Given the description of an element on the screen output the (x, y) to click on. 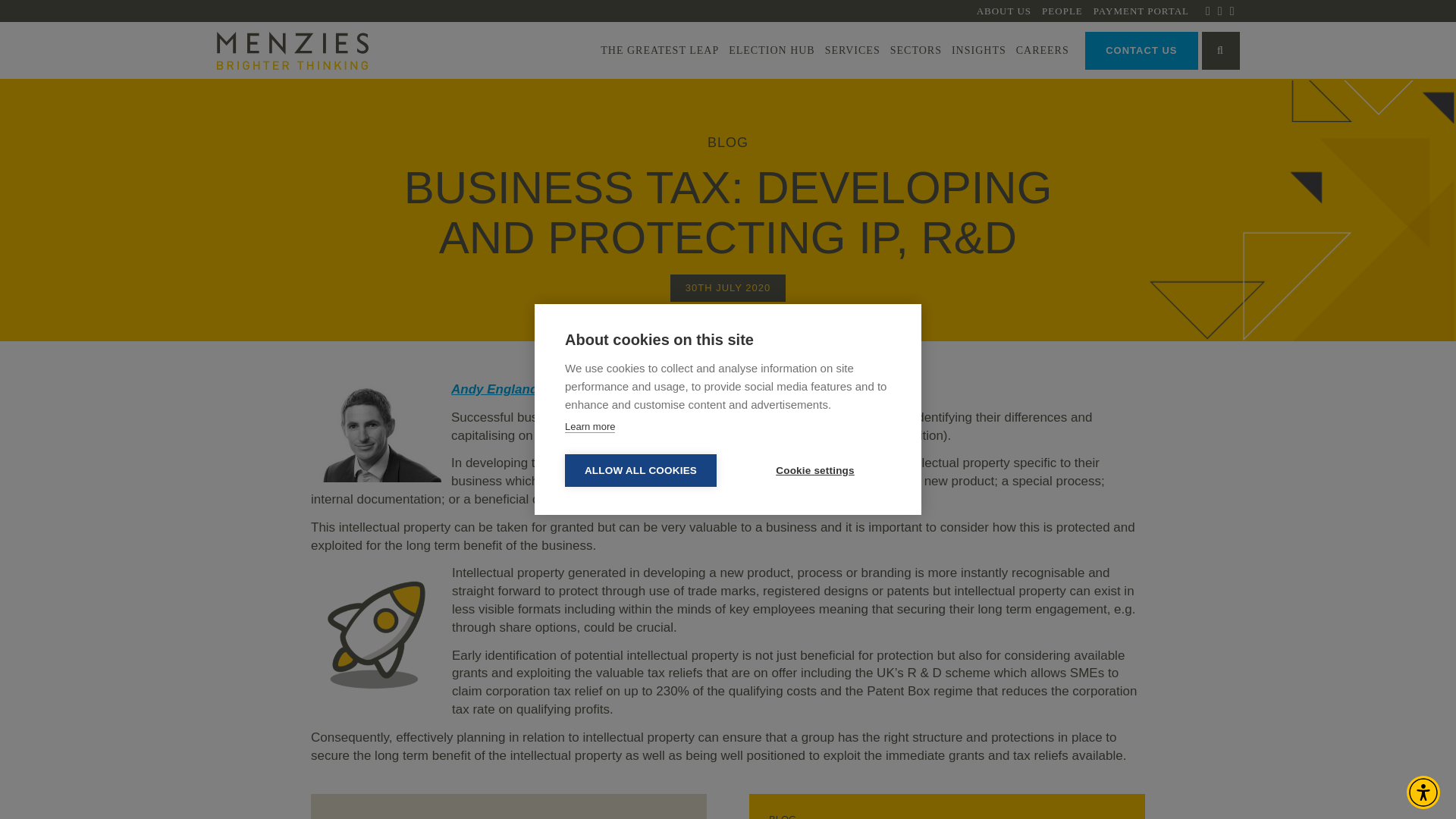
Accessibility Menu (1422, 792)
Menzies LLP (292, 50)
ELECTION HUB (772, 50)
Election Hub  (772, 50)
ABOUT US (1003, 11)
THE GREATEST LEAP (659, 50)
Services (852, 50)
SERVICES (852, 50)
The Greatest Leap  (659, 50)
PEOPLE (1061, 11)
PAYMENT PORTAL (1140, 11)
